Given the description of an element on the screen output the (x, y) to click on. 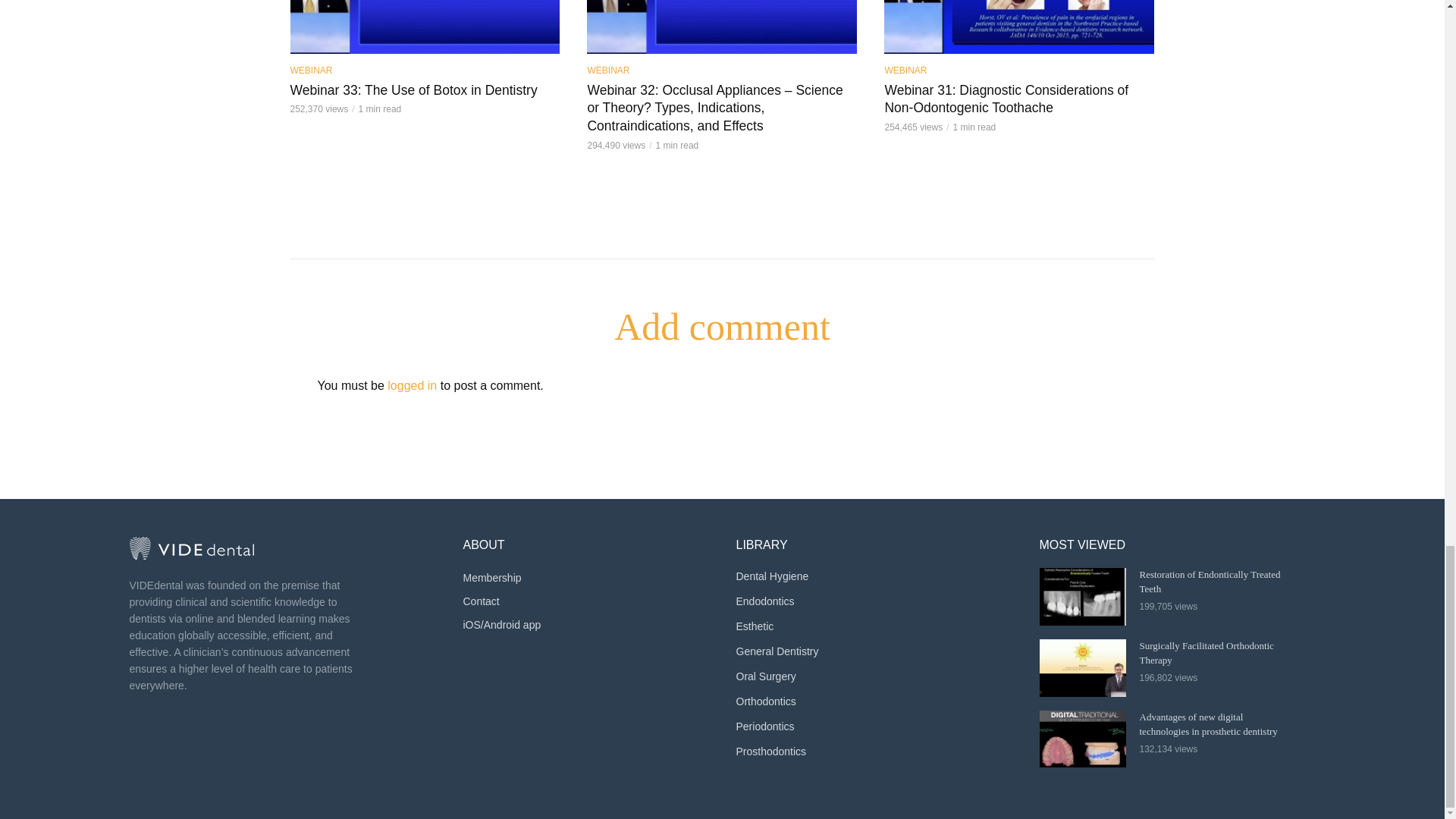
Webinar 33: The Use of Botox in Dentistry (424, 26)
Restoration of Endontically Treated Teeth (1082, 596)
Surgically Facilitated Orthodontic Therapy (1082, 667)
